Given the description of an element on the screen output the (x, y) to click on. 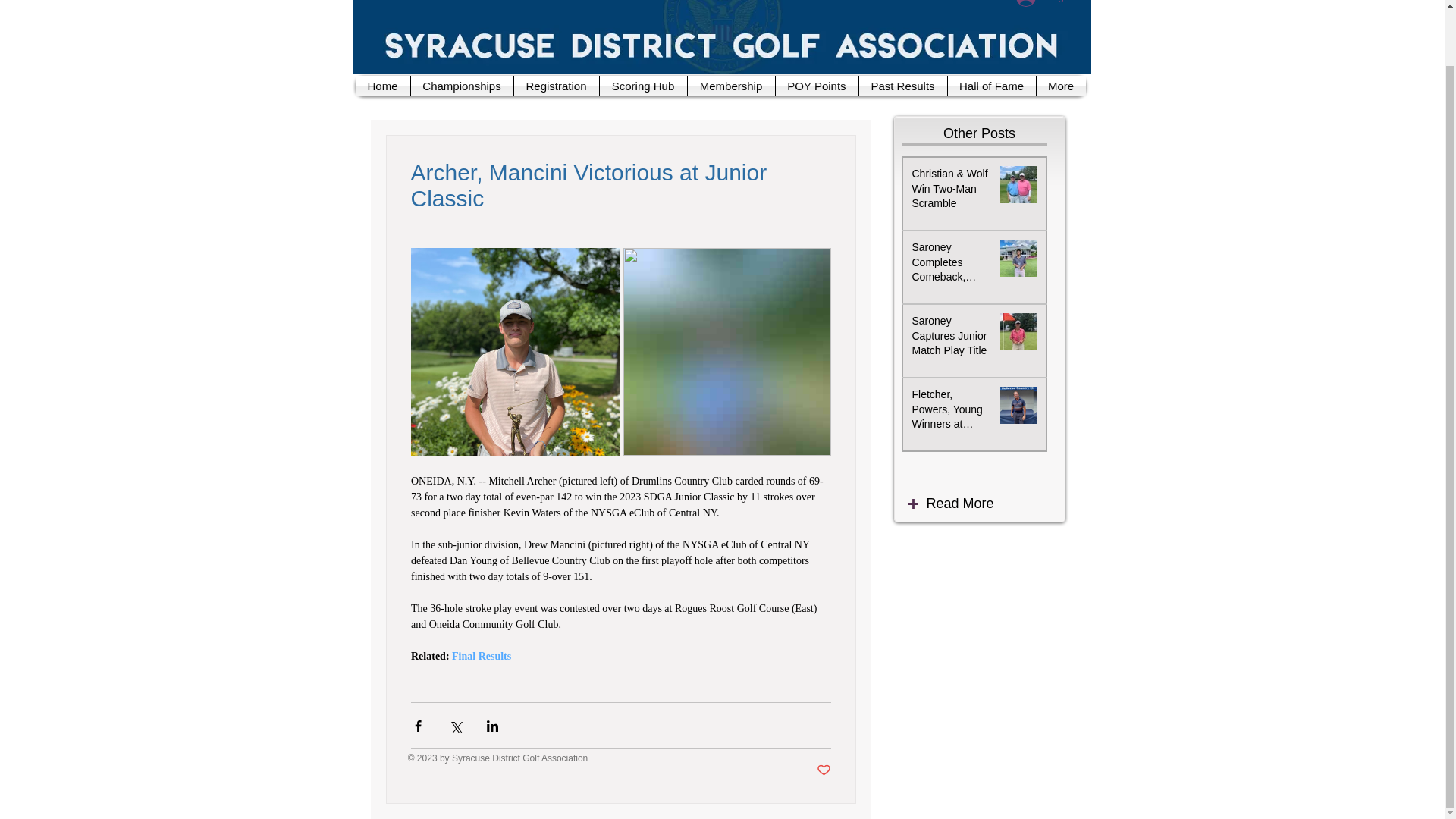
Scoring Hub (641, 86)
Past Results (902, 86)
Championships (461, 86)
Read More (992, 504)
Membership (730, 86)
Hall of Fame (991, 86)
Final Results (481, 655)
Saroney Completes Comeback, Wins Junior Classic (951, 265)
Home (382, 86)
POY Points (815, 86)
